Given the description of an element on the screen output the (x, y) to click on. 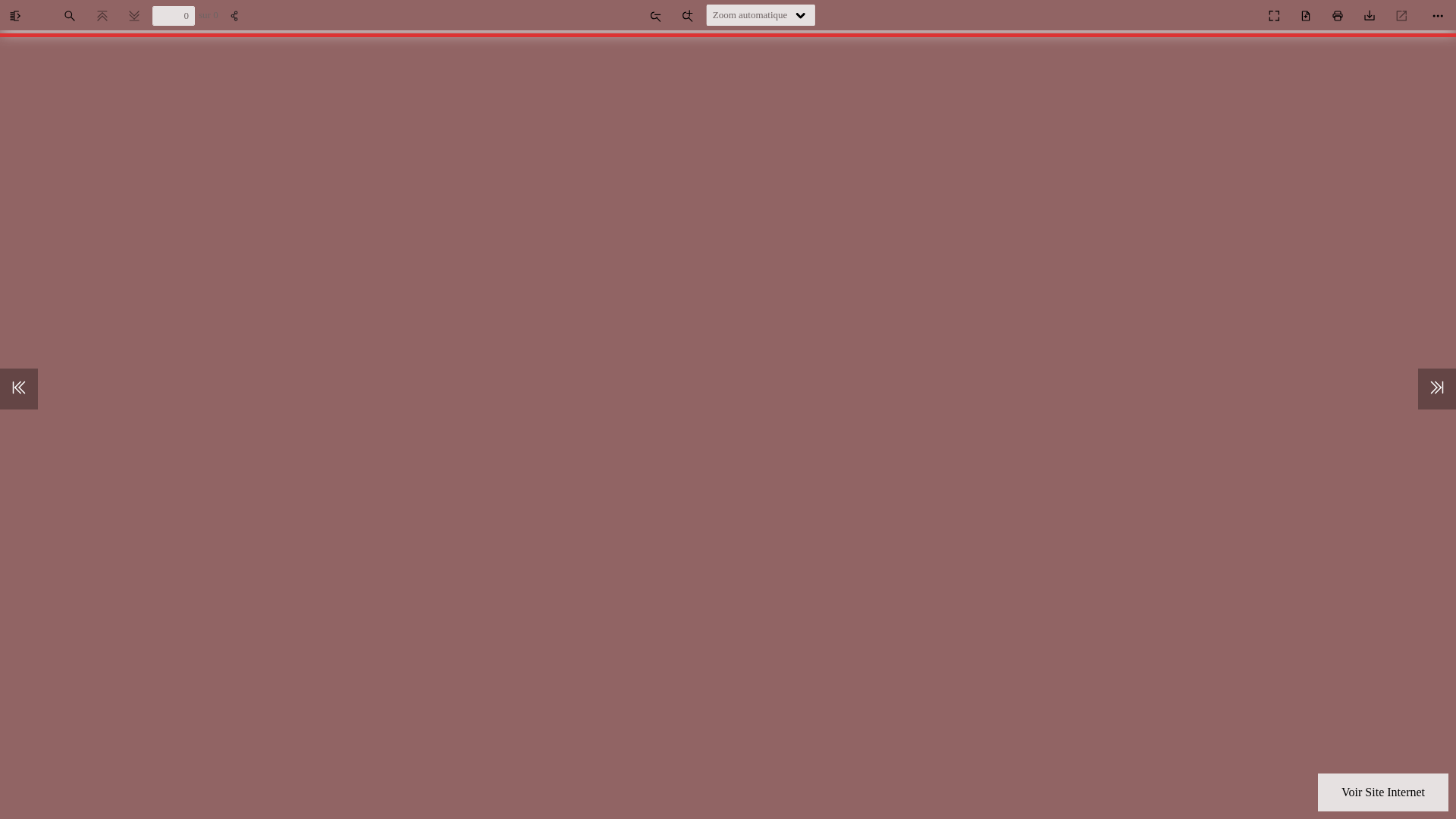
Outils Element type: hover (1439, 15)
Imprimer Element type: hover (1339, 15)
Page Element type: hover (173, 15)
Voir Site Internet Element type: text (1382, 791)
Zoom avant Element type: hover (689, 15)
Auberge Le Relais Element type: hover (1240, 11)
Page suivante Element type: hover (135, 15)
Ouvrir le fichier Element type: hover (1307, 15)
Rechercher dans le document Element type: hover (71, 15)
